Given the description of an element on the screen output the (x, y) to click on. 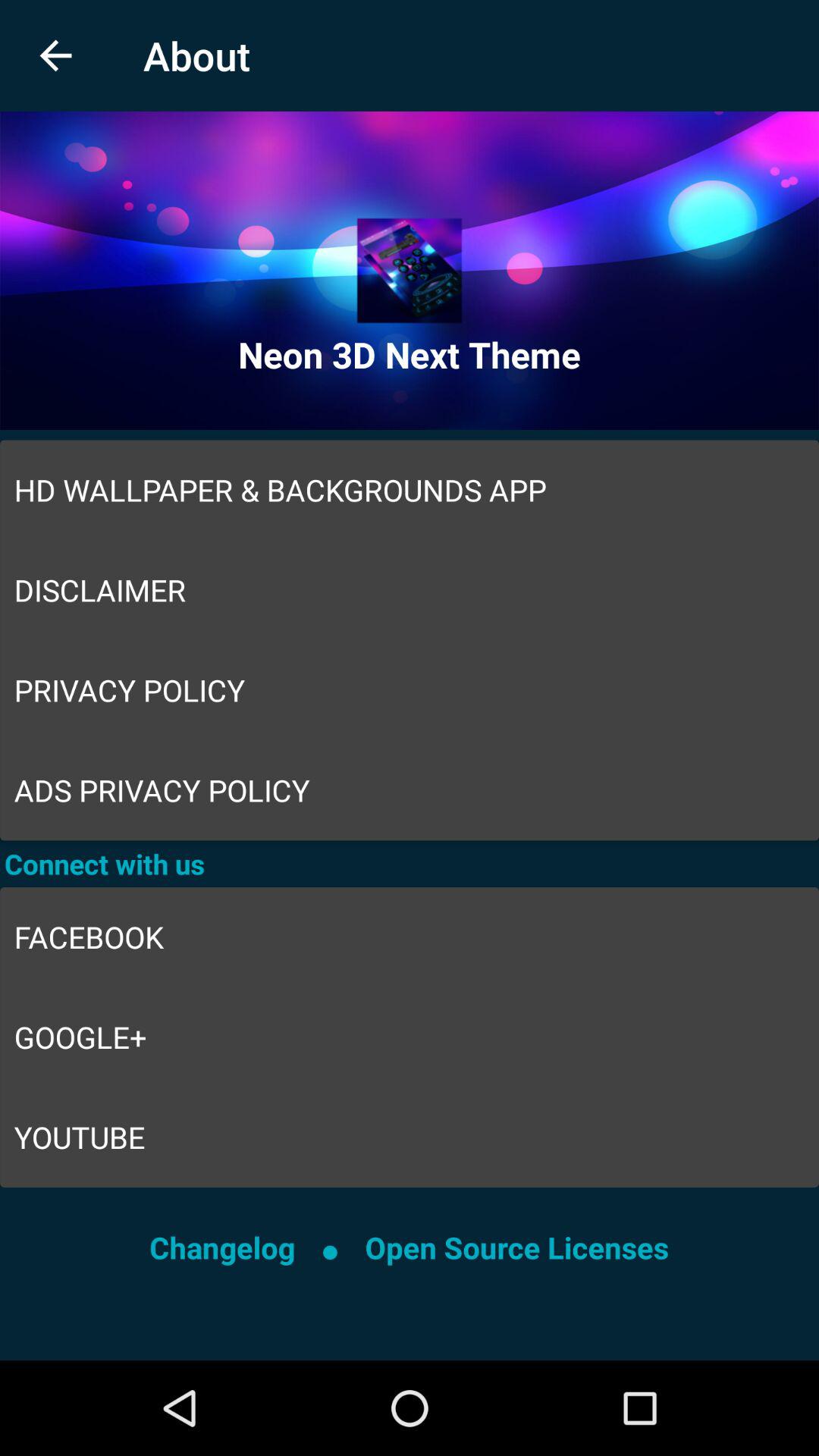
press google+ item (409, 1037)
